Given the description of an element on the screen output the (x, y) to click on. 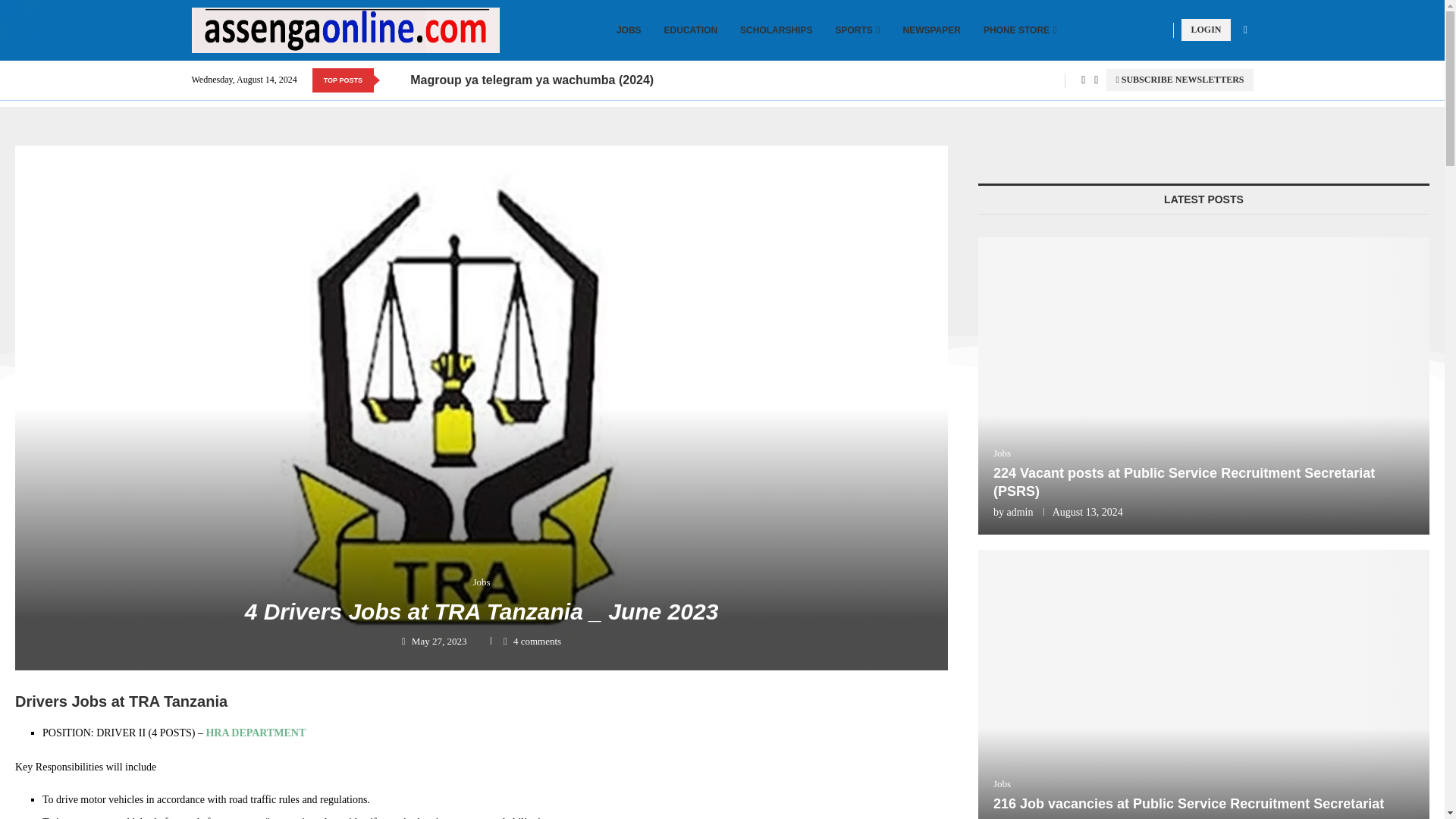
PHONE STORE (1020, 30)
EDUCATION (690, 30)
SPORTS (856, 30)
SCHOLARSHIPS (775, 30)
NEWSPAPER (930, 30)
